Given the description of an element on the screen output the (x, y) to click on. 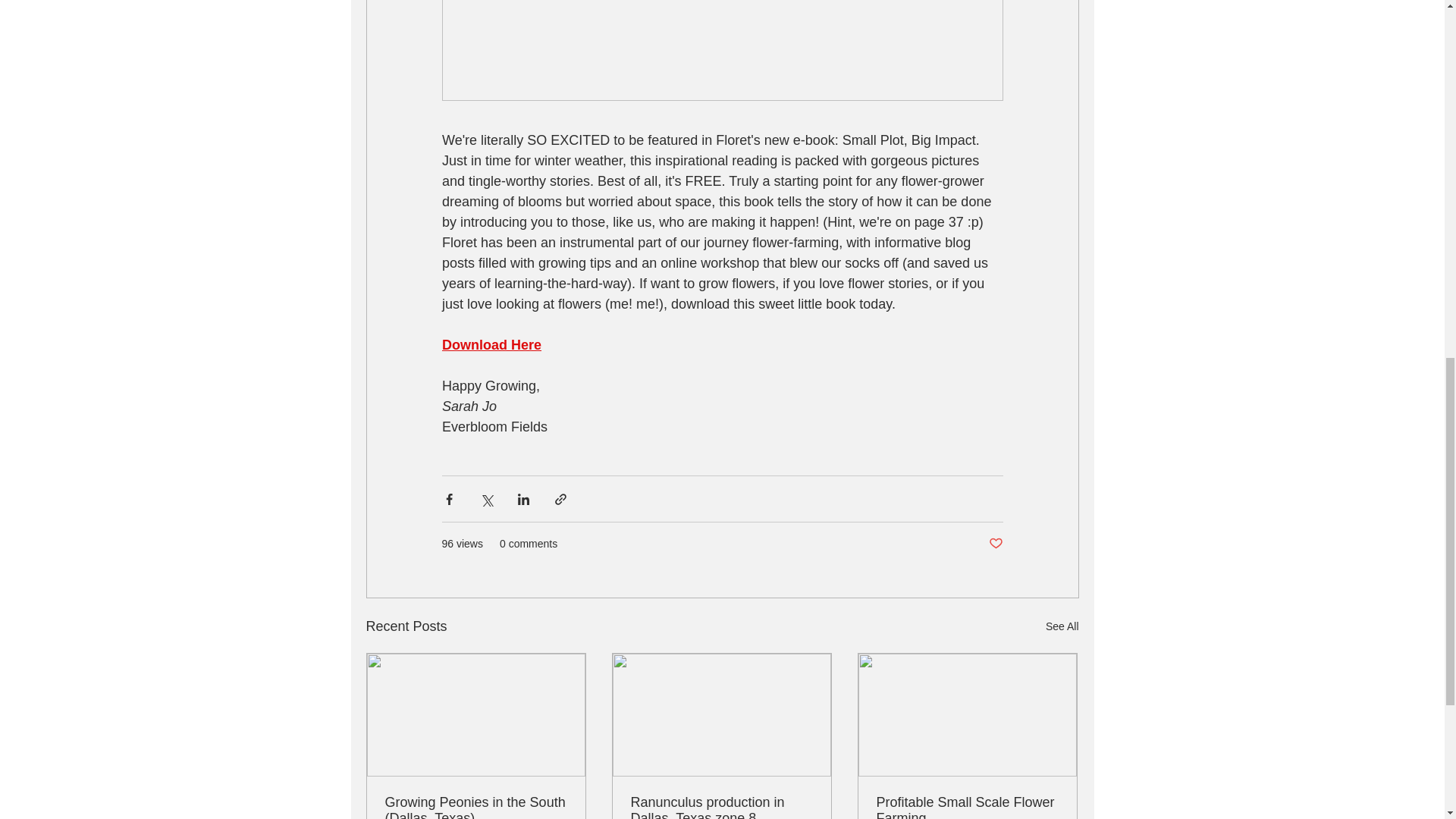
See All (1061, 626)
Post not marked as liked (995, 544)
Profitable Small Scale Flower Farming (967, 806)
Ranunculus production in Dallas, Texas zone 8 (721, 806)
Download Here (490, 344)
